Given the description of an element on the screen output the (x, y) to click on. 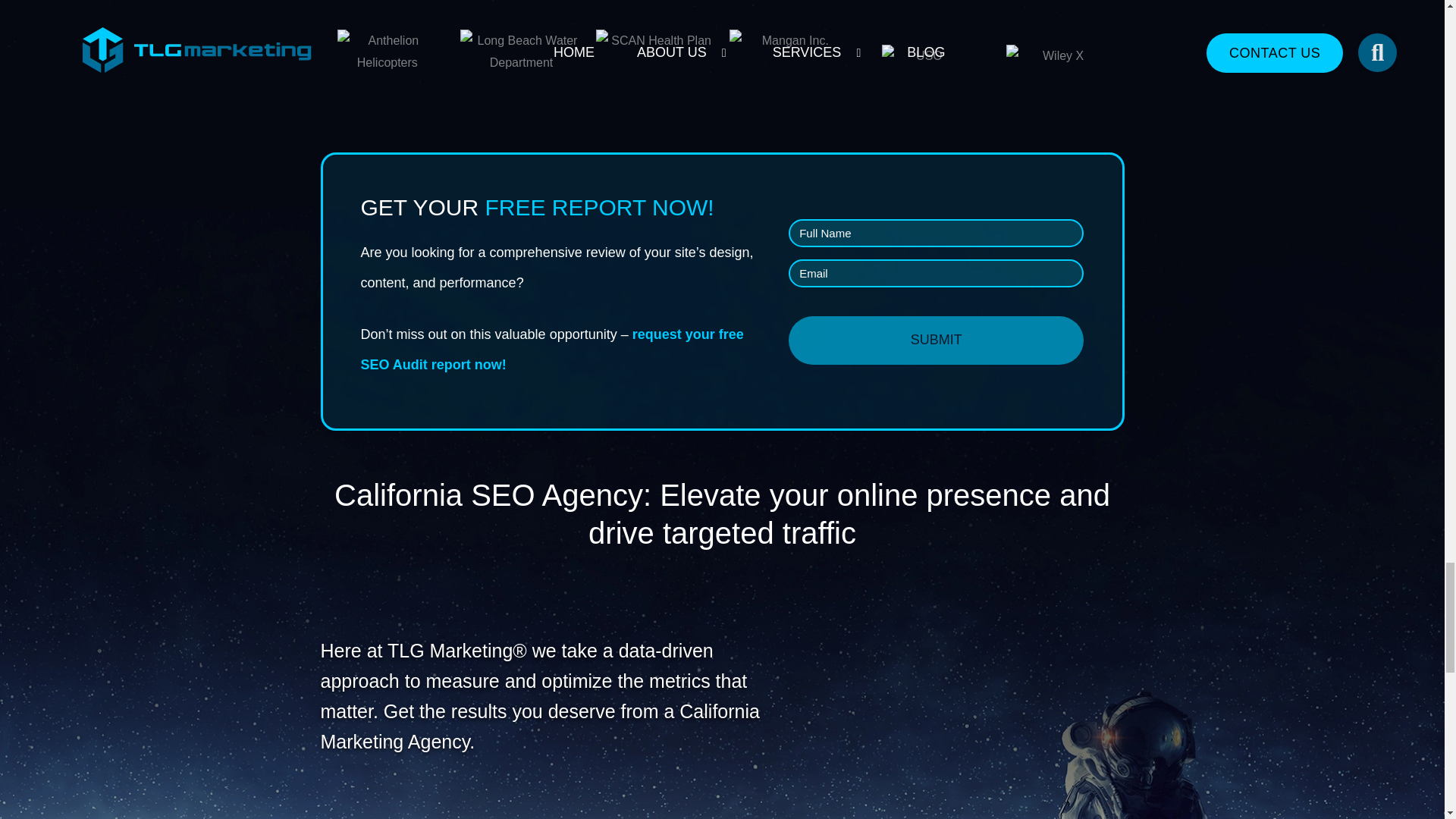
Submit (936, 339)
